Given the description of an element on the screen output the (x, y) to click on. 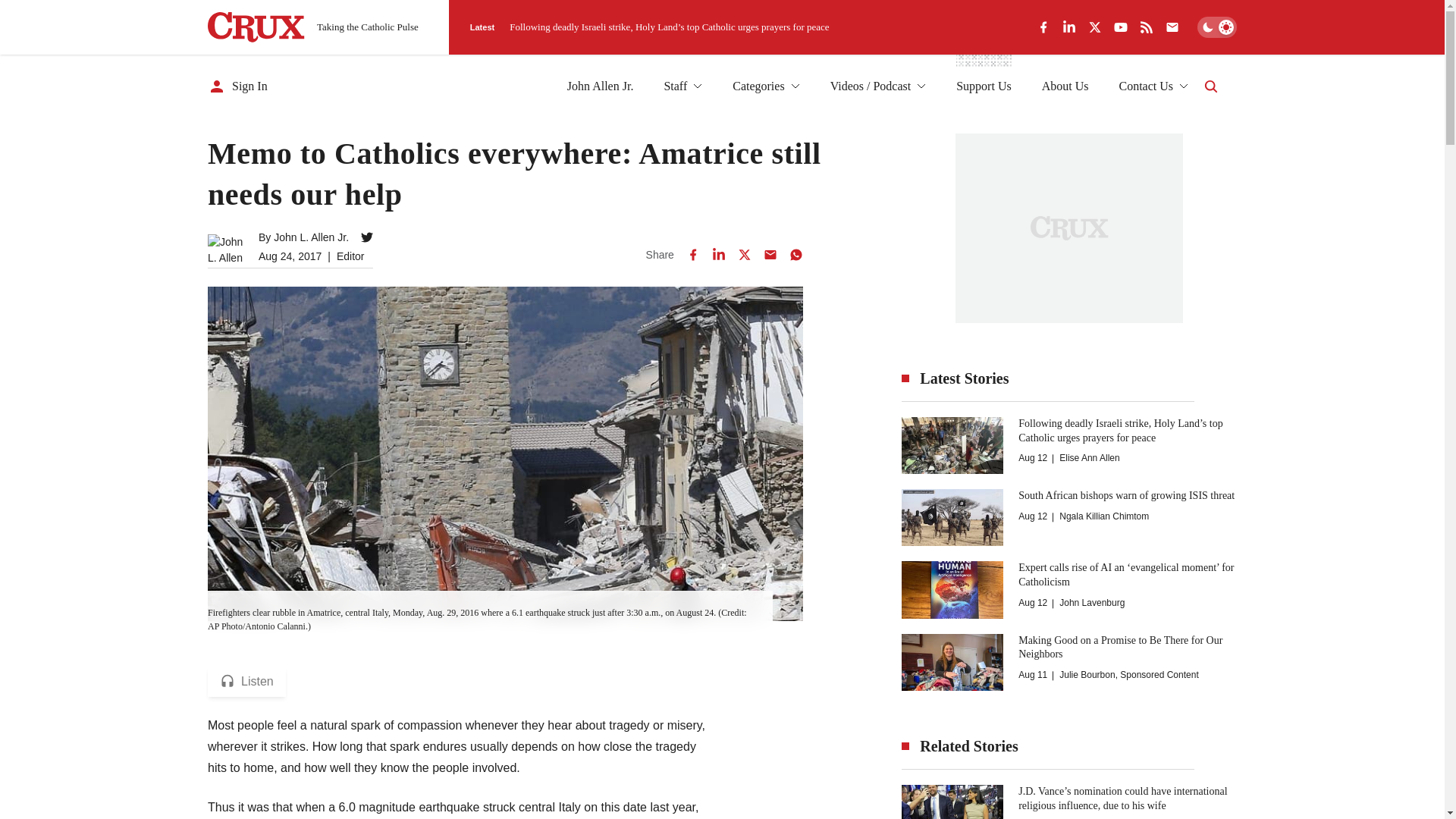
John Allen Jr. (600, 85)
Categories (765, 85)
Sign In (237, 85)
About Us (1065, 85)
Contact Us (1153, 85)
Support Us (983, 85)
Staff (682, 85)
